Given the description of an element on the screen output the (x, y) to click on. 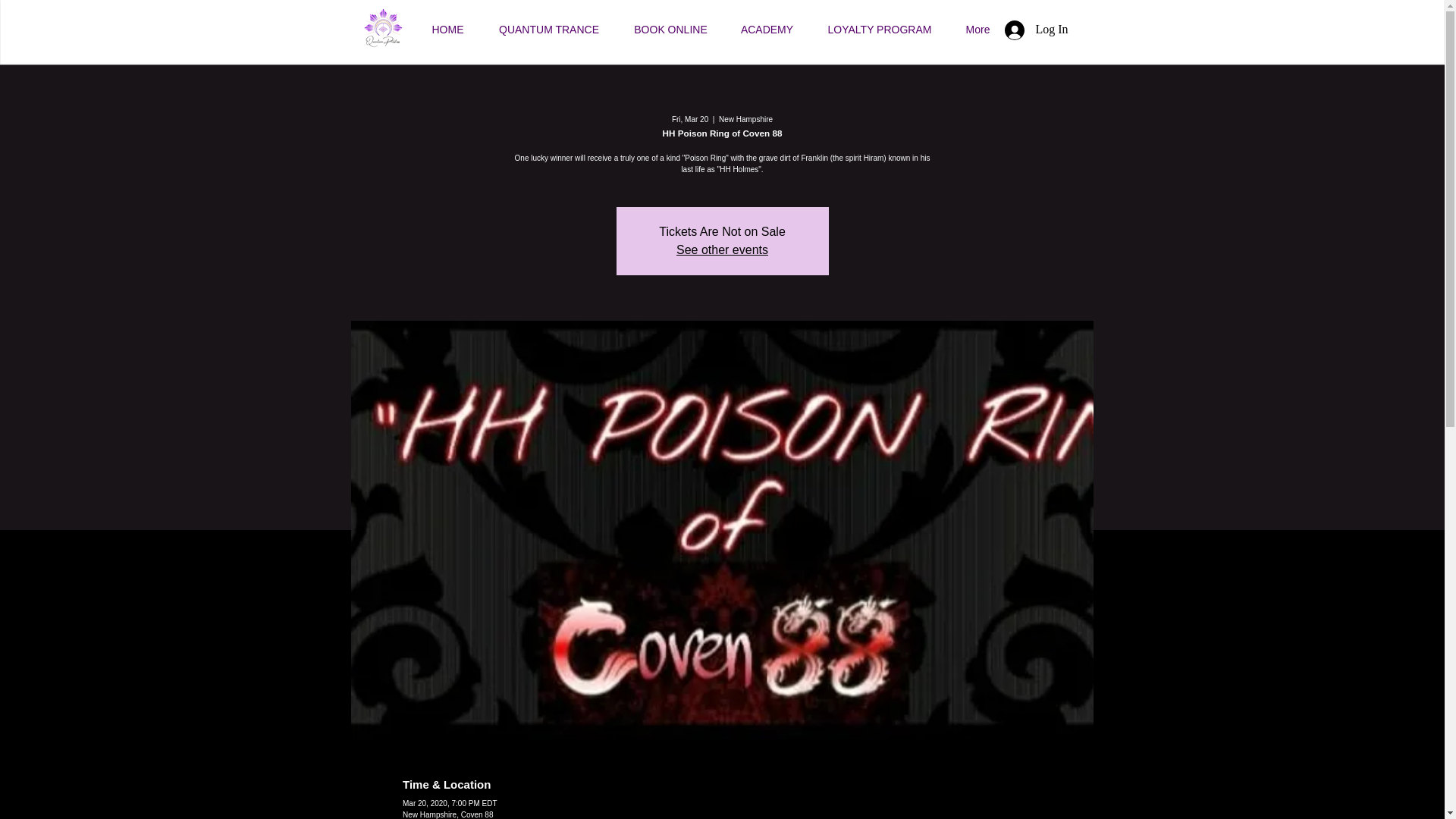
ACADEMY (766, 29)
QUANTUM TRANCE (548, 29)
HOME (447, 29)
LOYALTY PROGRAM (879, 29)
BOOK ONLINE (670, 29)
See other events (722, 249)
Log In (1036, 29)
